Given the description of an element on the screen output the (x, y) to click on. 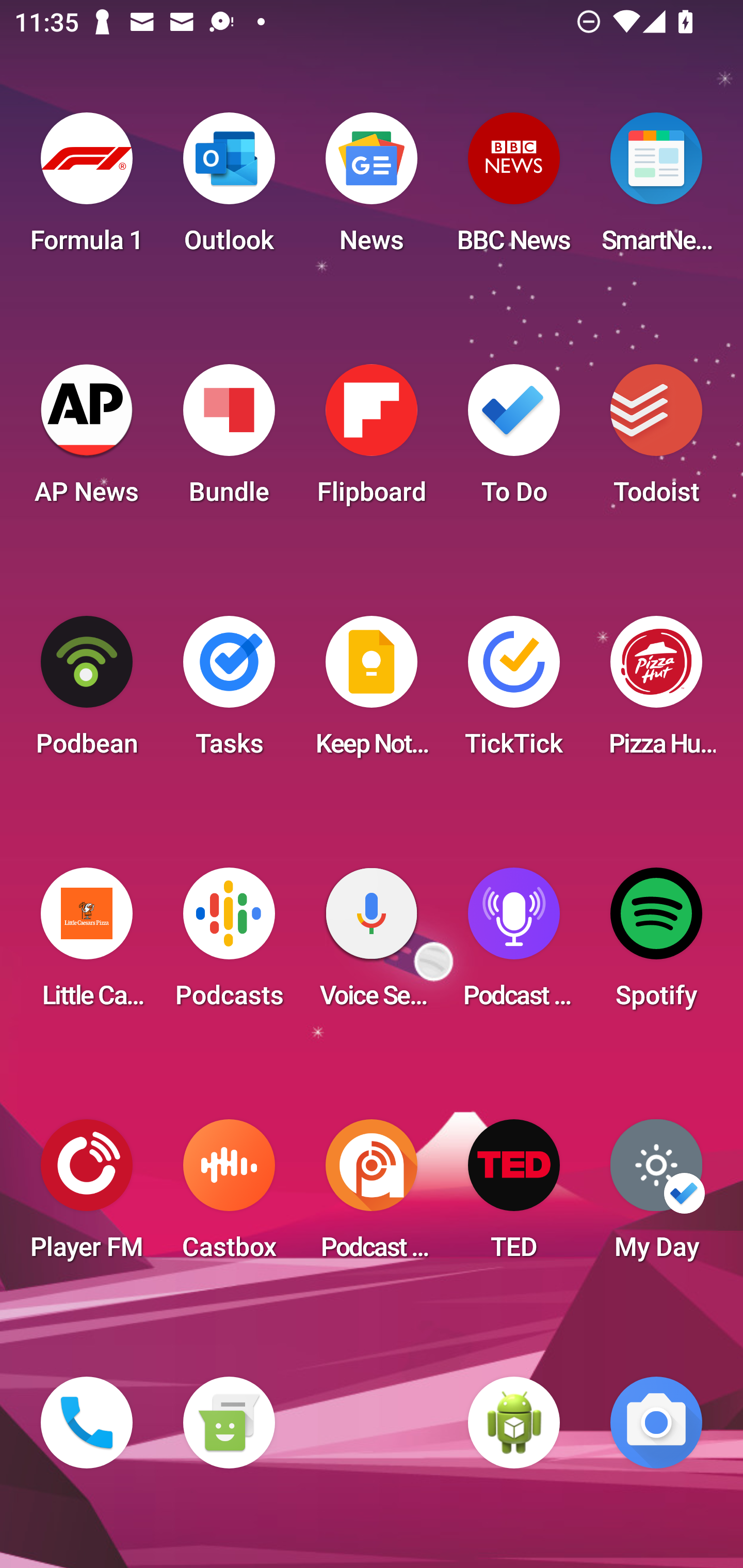
Formula 1 (86, 188)
Outlook (228, 188)
News (371, 188)
BBC News (513, 188)
SmartNews (656, 188)
AP News (86, 440)
Bundle (228, 440)
Flipboard (371, 440)
To Do (513, 440)
Todoist (656, 440)
Podbean (86, 692)
Tasks (228, 692)
Keep Notes (371, 692)
TickTick (513, 692)
Pizza Hut HK & Macau (656, 692)
Little Caesars Pizza (86, 943)
Podcasts (228, 943)
Voice Search (371, 943)
Podcast Player (513, 943)
Spotify (656, 943)
Player FM (86, 1195)
Castbox (228, 1195)
Podcast Addict (371, 1195)
TED (513, 1195)
My Day (656, 1195)
Phone (86, 1422)
Messaging (228, 1422)
WebView Browser Tester (513, 1422)
Camera (656, 1422)
